Given the description of an element on the screen output the (x, y) to click on. 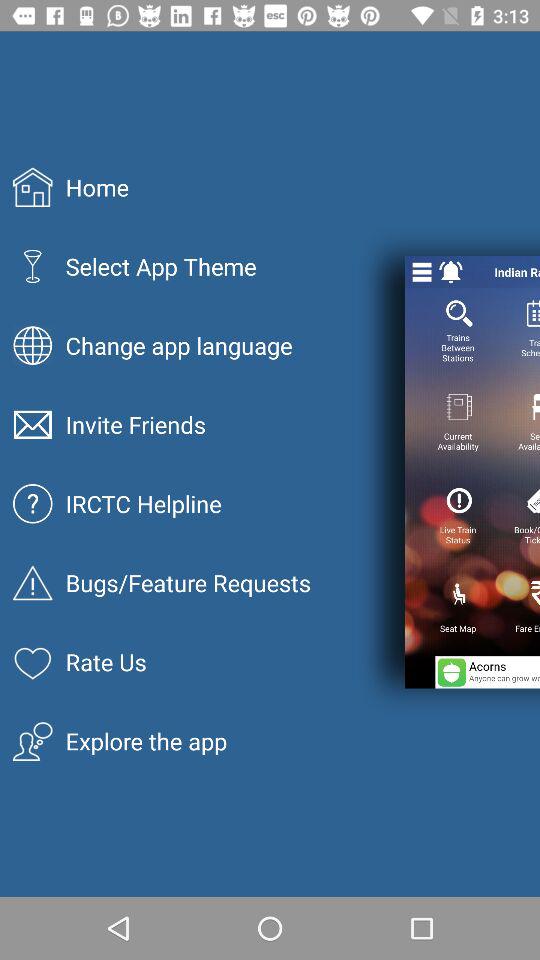
select the search icon below notification bell icon on the page (459, 313)
click on the icon beside live train status (533, 500)
select the icon which is left side of the change app language (32, 345)
